Given the description of an element on the screen output the (x, y) to click on. 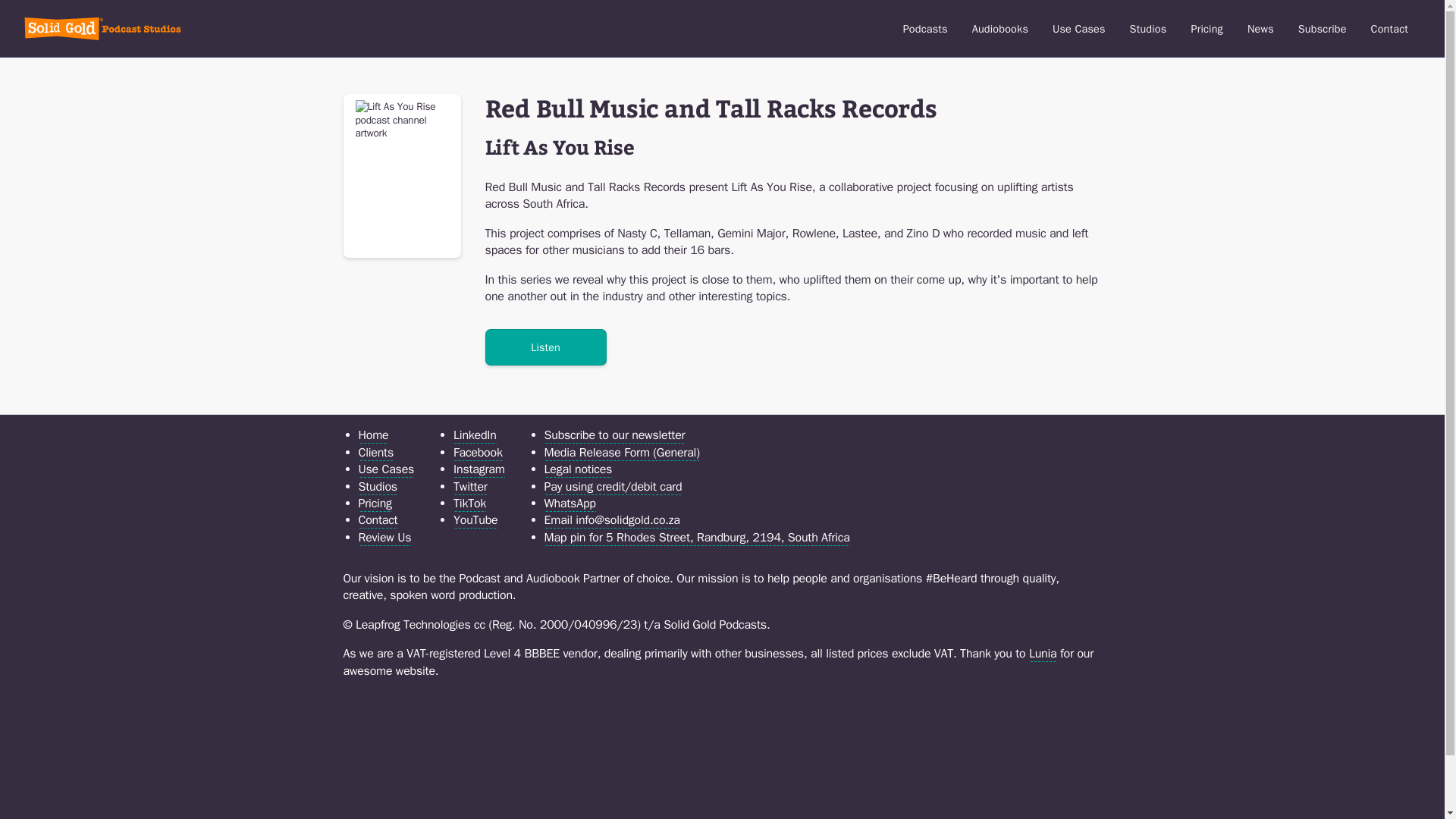
TikTok (469, 503)
Clients (375, 453)
Audiobooks (1000, 28)
Contact Solid Gold Podcast and Audiobook Studios (1389, 28)
Twitter (469, 487)
Solid Gold Podcast and Audiobook Studios (1148, 28)
Map pin for 5 Rhodes Street, Randburg, 2194, South Africa (697, 537)
YouTube (474, 520)
Facebook (477, 453)
